Given the description of an element on the screen output the (x, y) to click on. 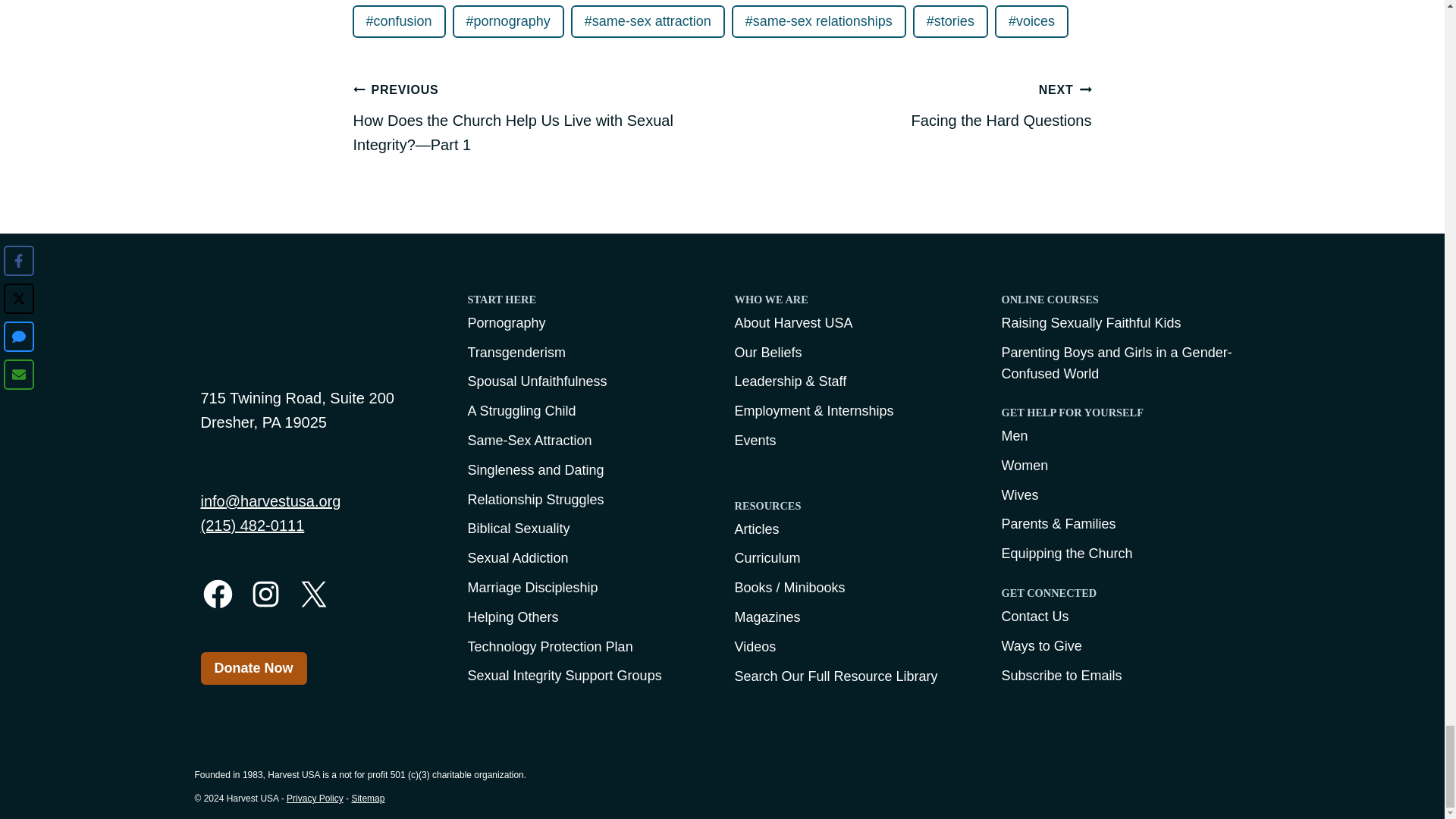
Relationship Struggles (588, 499)
Follow Harvest USA on Facebook (217, 593)
confusion (398, 20)
Pornography (588, 323)
Same-Sex Attraction (588, 440)
voices (1031, 20)
Transgenderism (588, 352)
A Struggling Child (588, 411)
same-sex attraction (647, 20)
Biblical Sexuality (588, 528)
